Given the description of an element on the screen output the (x, y) to click on. 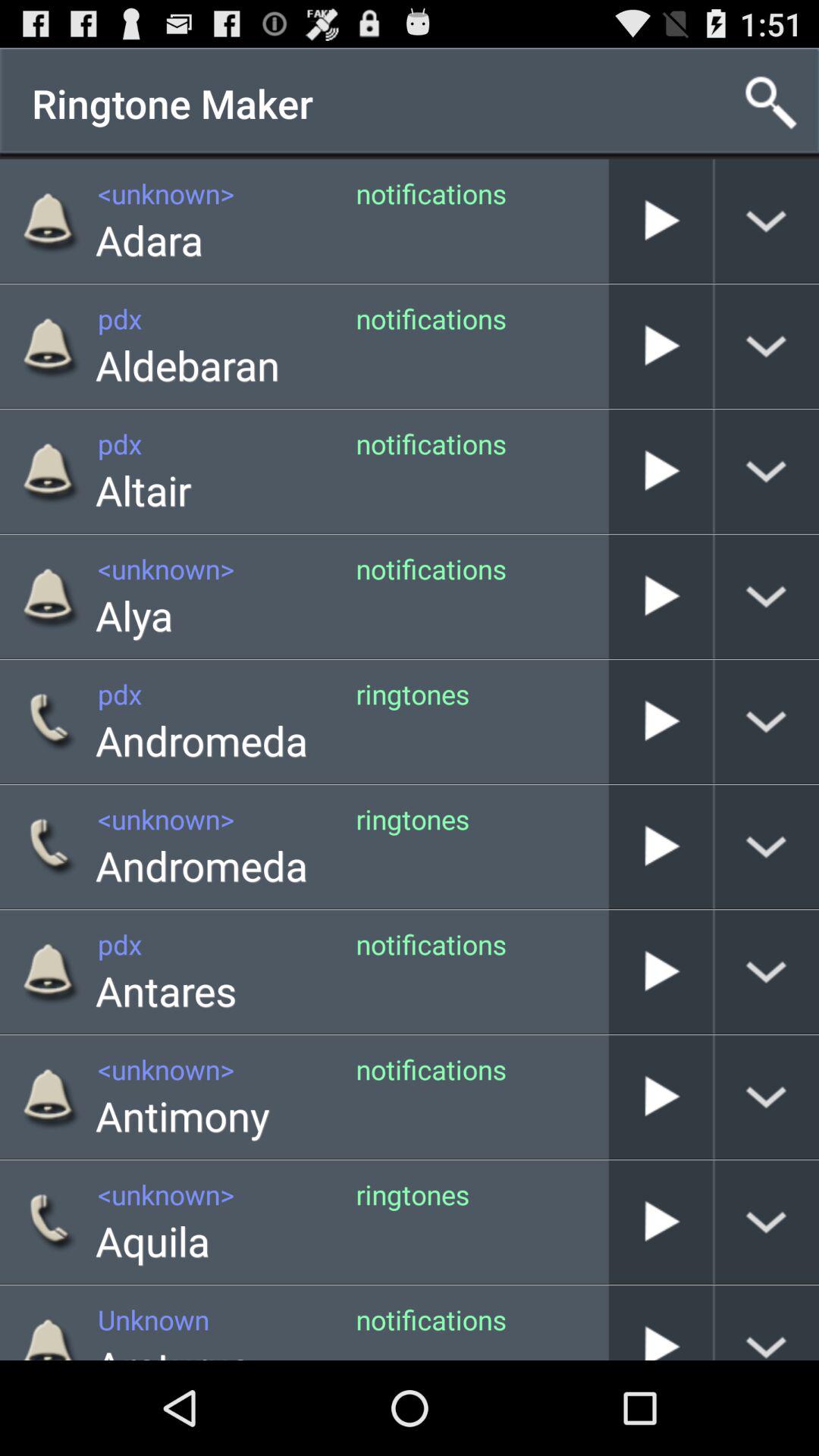
show more options (767, 971)
